Given the description of an element on the screen output the (x, y) to click on. 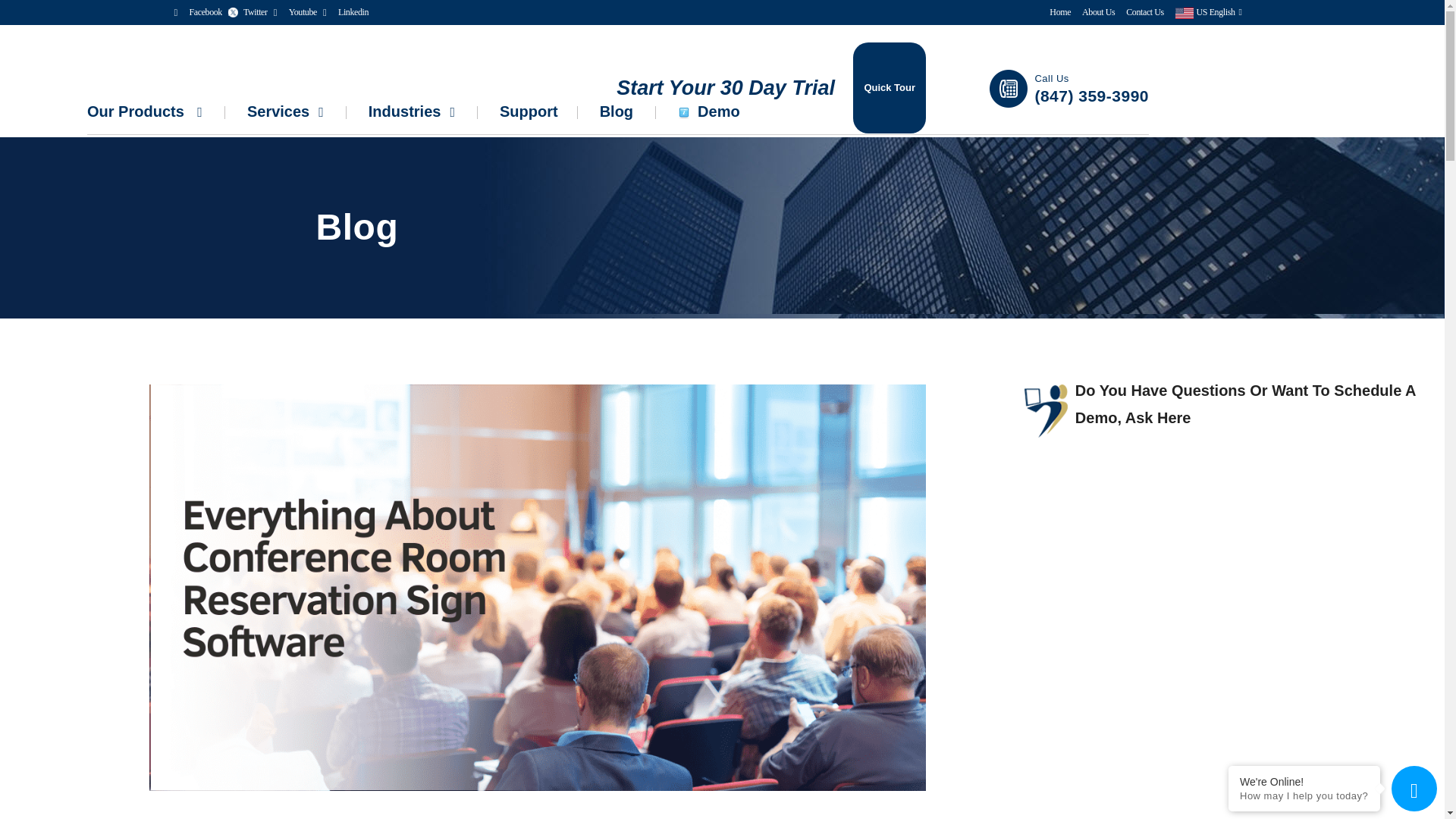
Start Your 30 Day Trial (724, 87)
US English (1202, 12)
About Us (1092, 12)
We're Online! (1304, 781)
Youtube (302, 11)
Contact Us (1139, 12)
Home (1054, 12)
How may I help you today? (1304, 795)
Our Products (151, 111)
Twitter (255, 11)
